Given the description of an element on the screen output the (x, y) to click on. 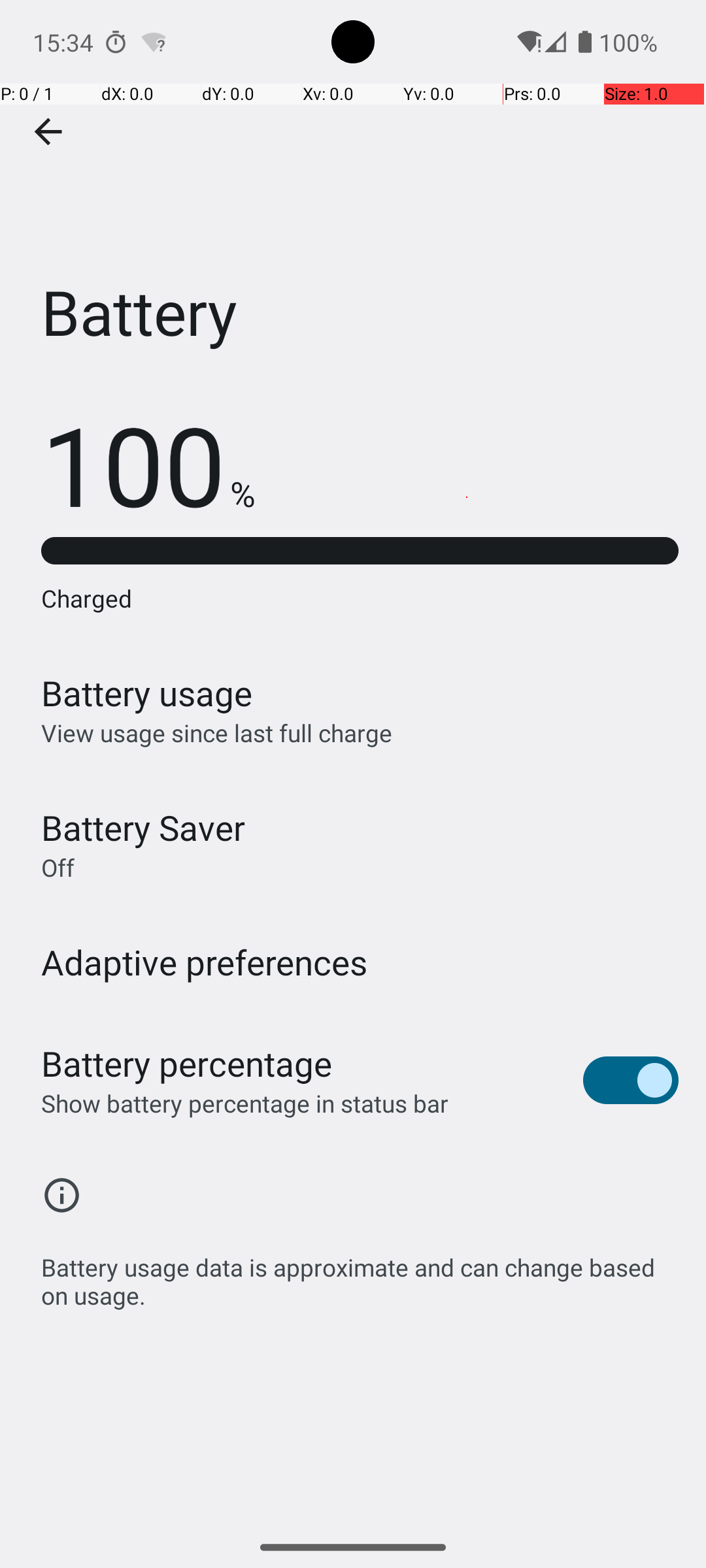
100 % Element type: android.widget.TextView (147, 463)
Charged Element type: android.widget.TextView (359, 597)
Battery usage Element type: android.widget.TextView (146, 692)
View usage since last full charge Element type: android.widget.TextView (216, 732)
Battery Saver Element type: android.widget.TextView (143, 827)
Adaptive preferences Element type: android.widget.TextView (204, 961)
Battery percentage Element type: android.widget.TextView (186, 1063)
Show battery percentage in status bar Element type: android.widget.TextView (244, 1102)
Battery usage data is approximate and can change based on usage. Element type: android.widget.TextView (359, 1274)
